Given the description of an element on the screen output the (x, y) to click on. 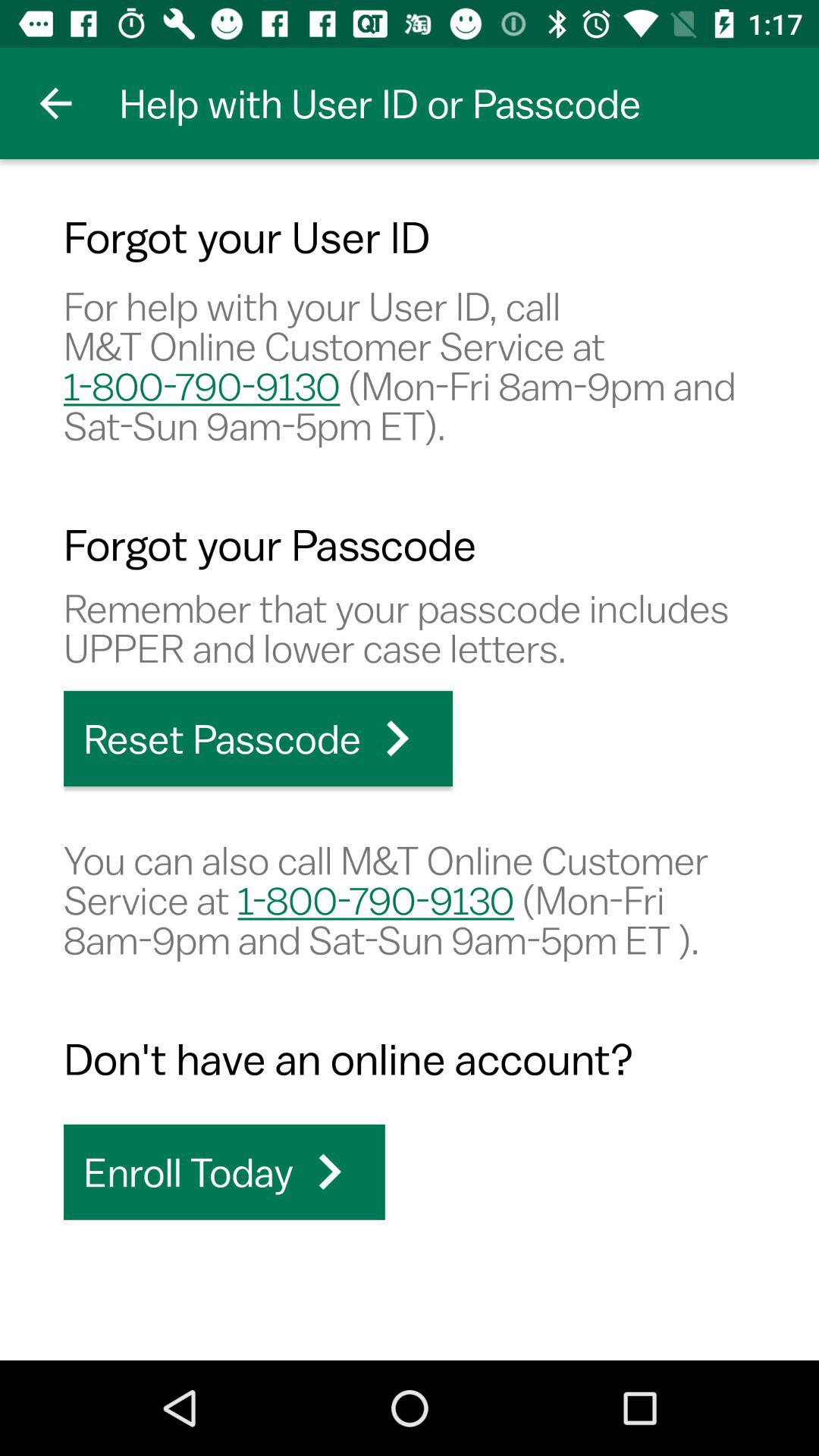
launch the icon above the don t have icon (409, 899)
